Given the description of an element on the screen output the (x, y) to click on. 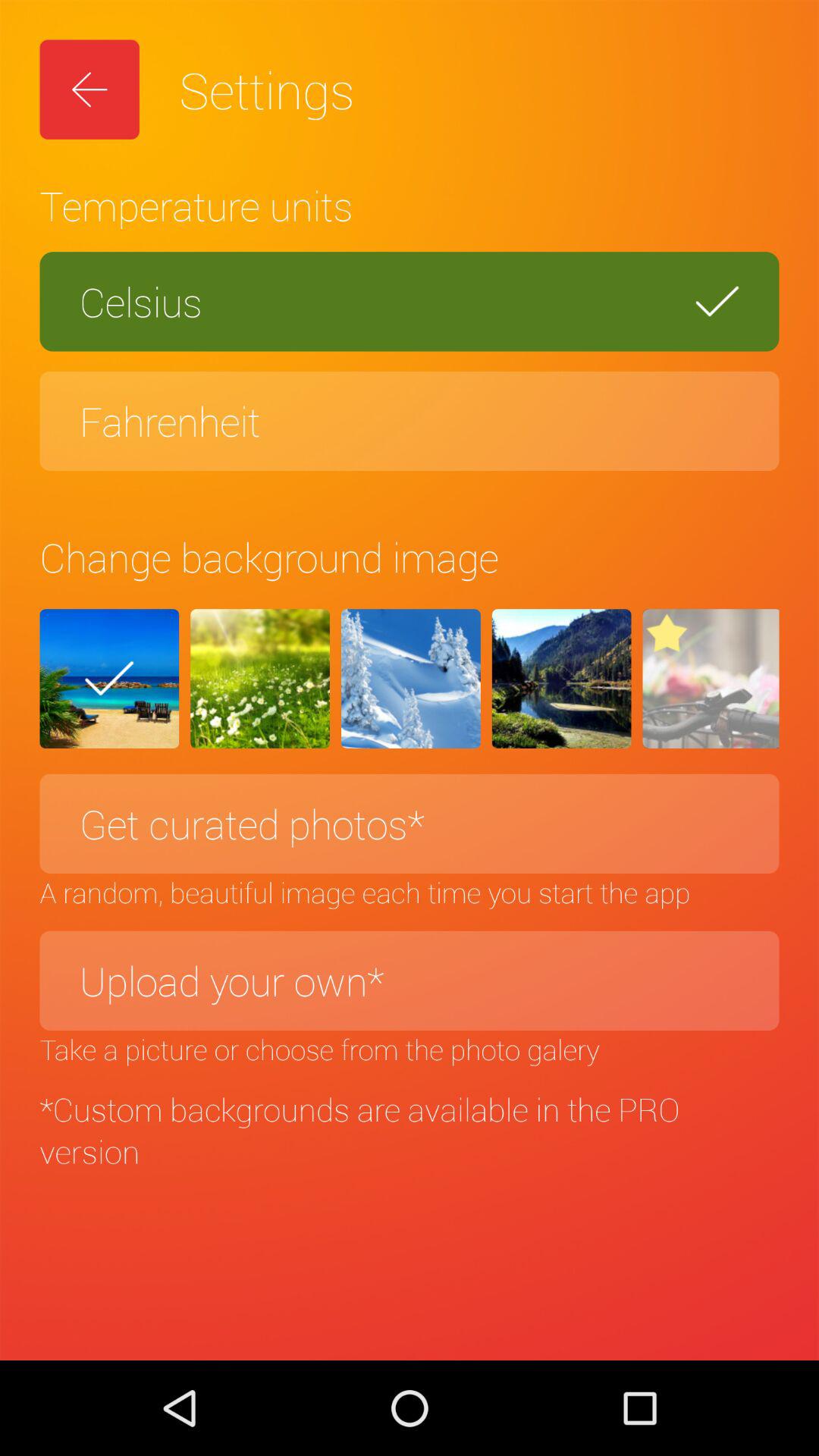
press the item below change background image icon (259, 678)
